Given the description of an element on the screen output the (x, y) to click on. 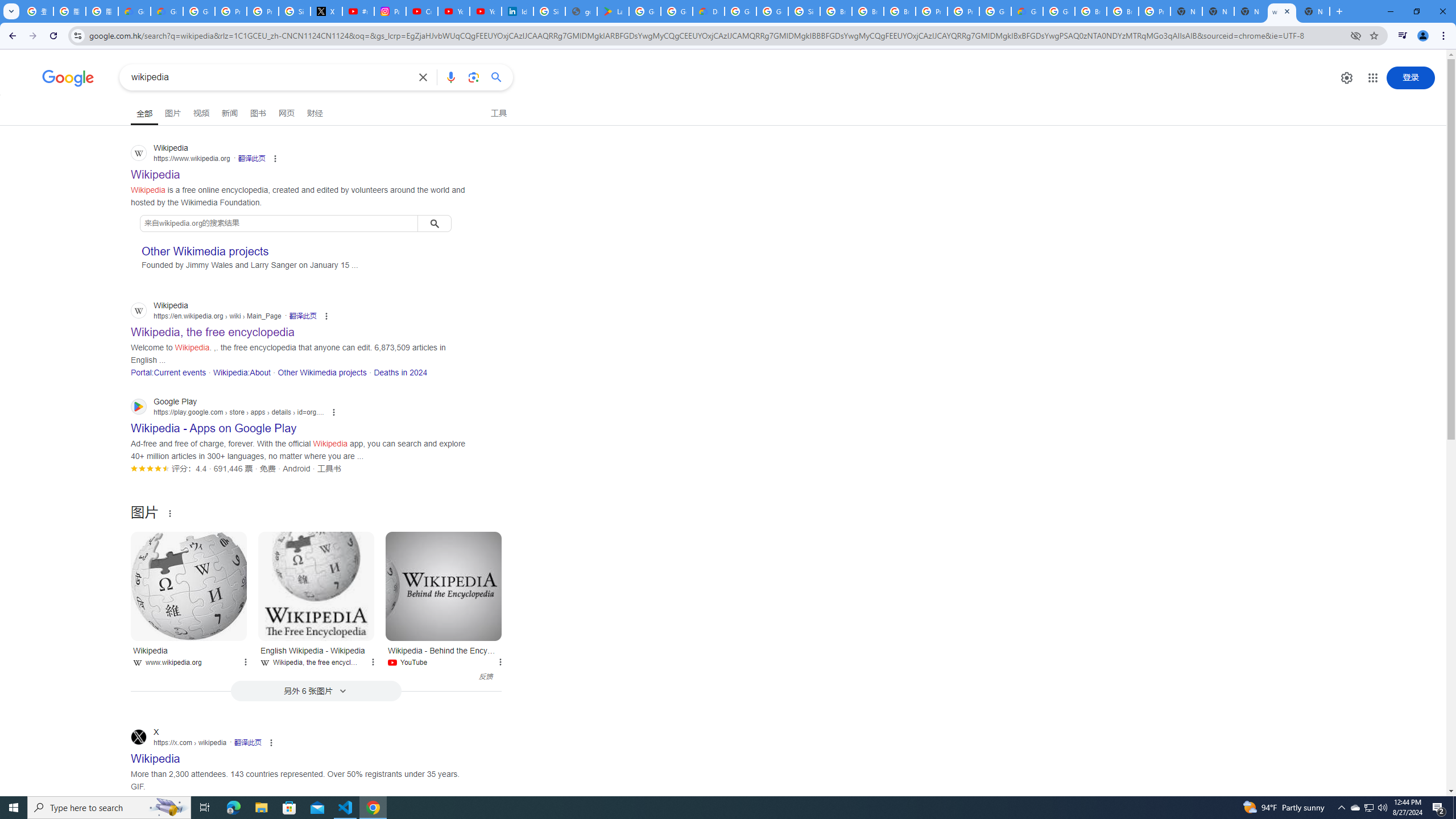
Wikipedia (189, 586)
Sign in - Google Accounts (294, 11)
YouTube Culture & Trends - YouTube Top 10, 2021 (485, 11)
Other Wikimedia projects (322, 371)
Google Cloud Privacy Notice (166, 11)
X (326, 11)
